Given the description of an element on the screen output the (x, y) to click on. 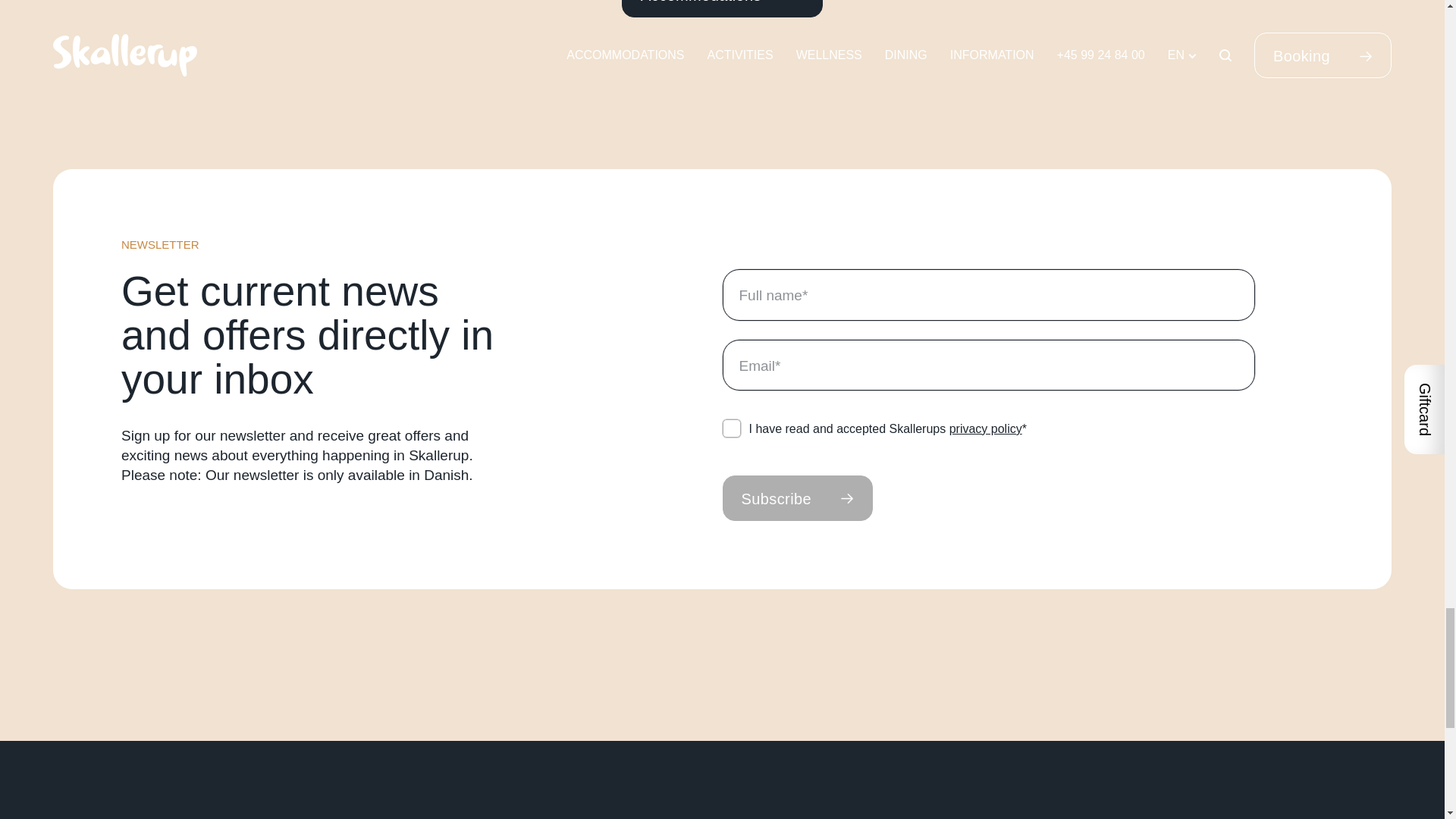
privacy policy (985, 428)
Accommodations (721, 8)
Email (988, 365)
Subscribe (797, 497)
Accommodations (721, 8)
Full name (988, 295)
